Given the description of an element on the screen output the (x, y) to click on. 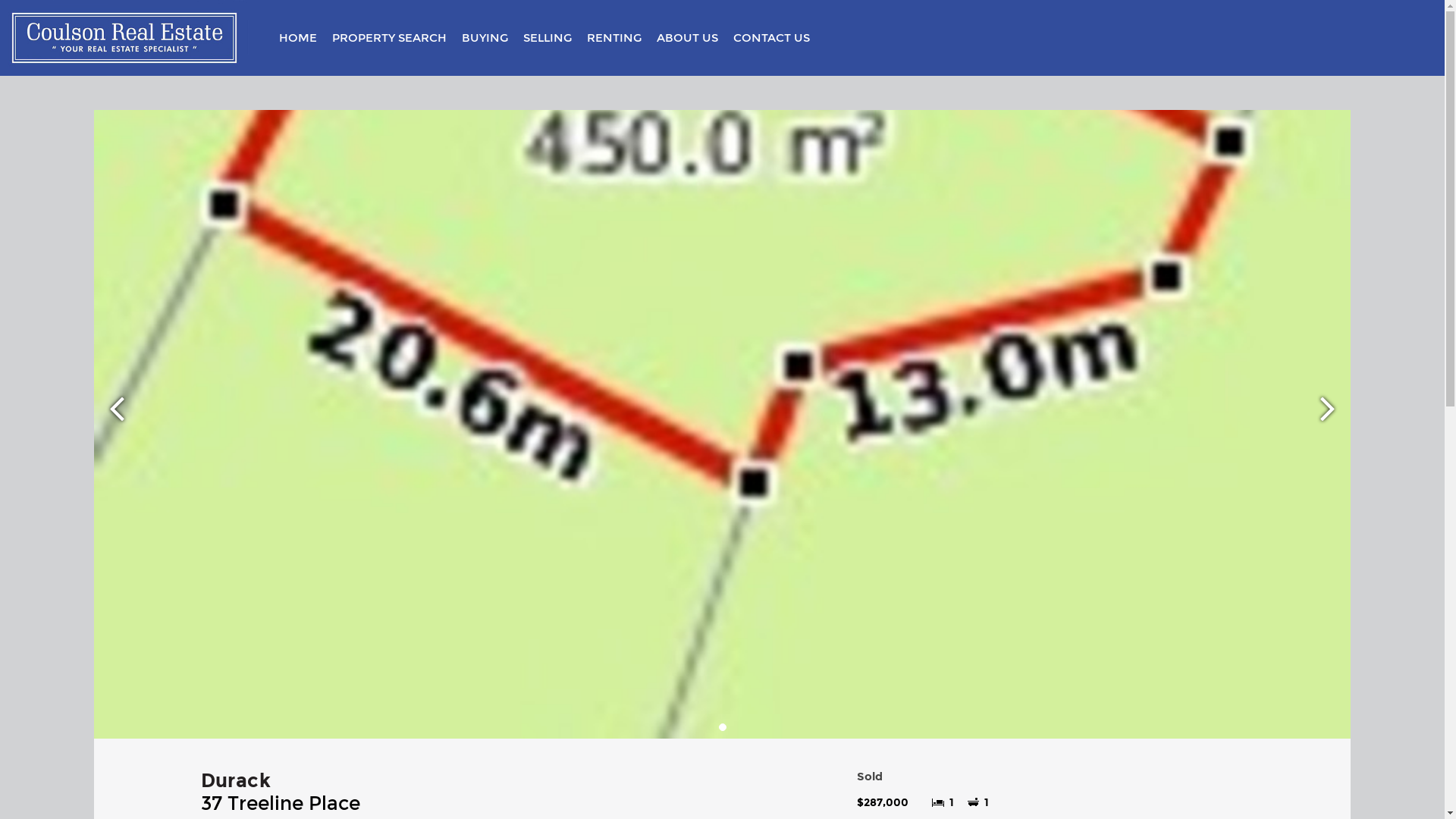
SELLING Element type: text (547, 37)
PROPERTY SEARCH Element type: text (389, 37)
RENTING Element type: text (614, 37)
Coulson Real Estate -  Element type: hover (124, 37)
ABOUT US Element type: text (687, 37)
BUYING Element type: text (484, 37)
CONTACT US Element type: text (771, 37)
HOME Element type: text (297, 37)
